Given the description of an element on the screen output the (x, y) to click on. 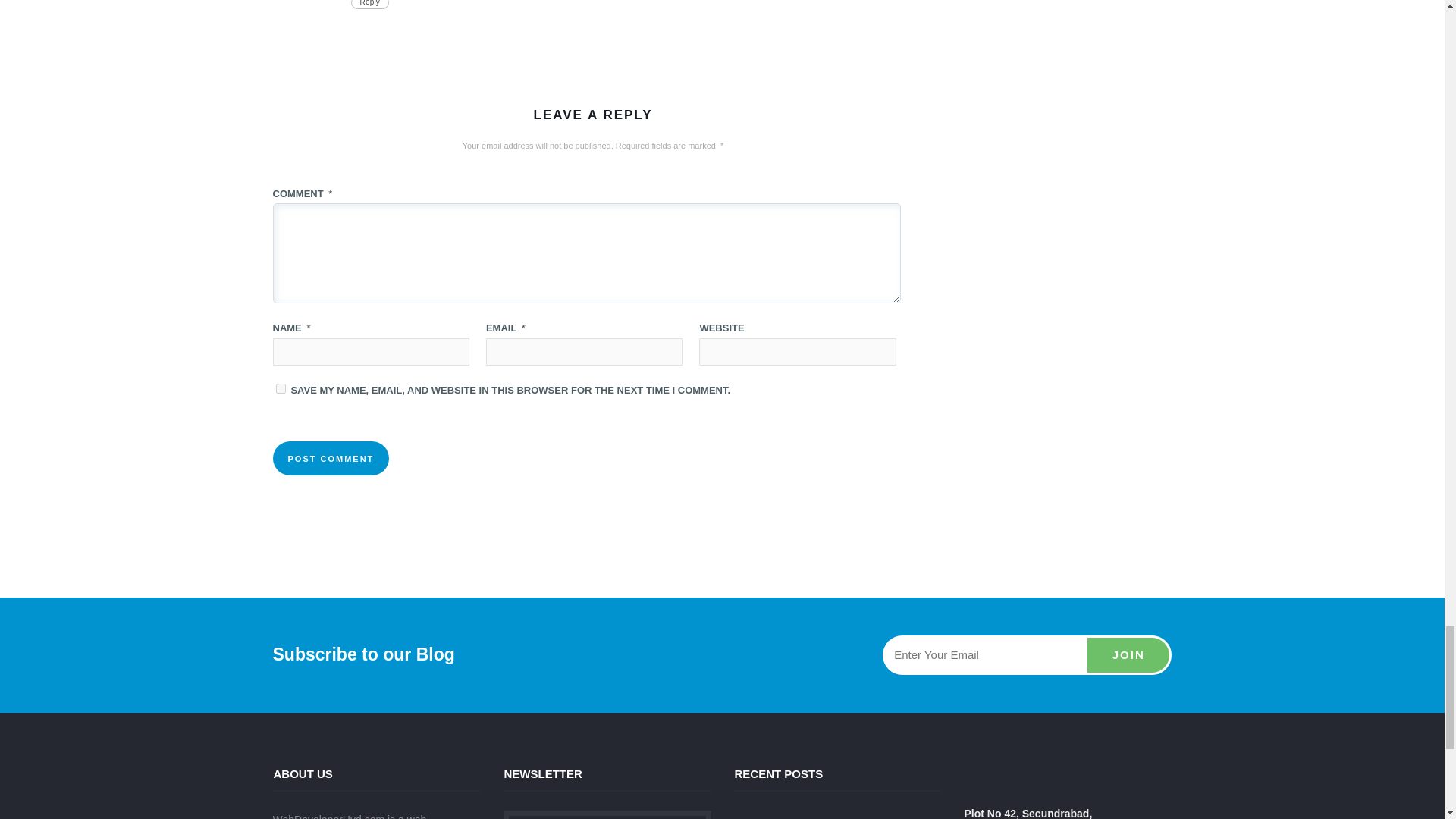
Post Comment (331, 458)
yes (280, 388)
